Given the description of an element on the screen output the (x, y) to click on. 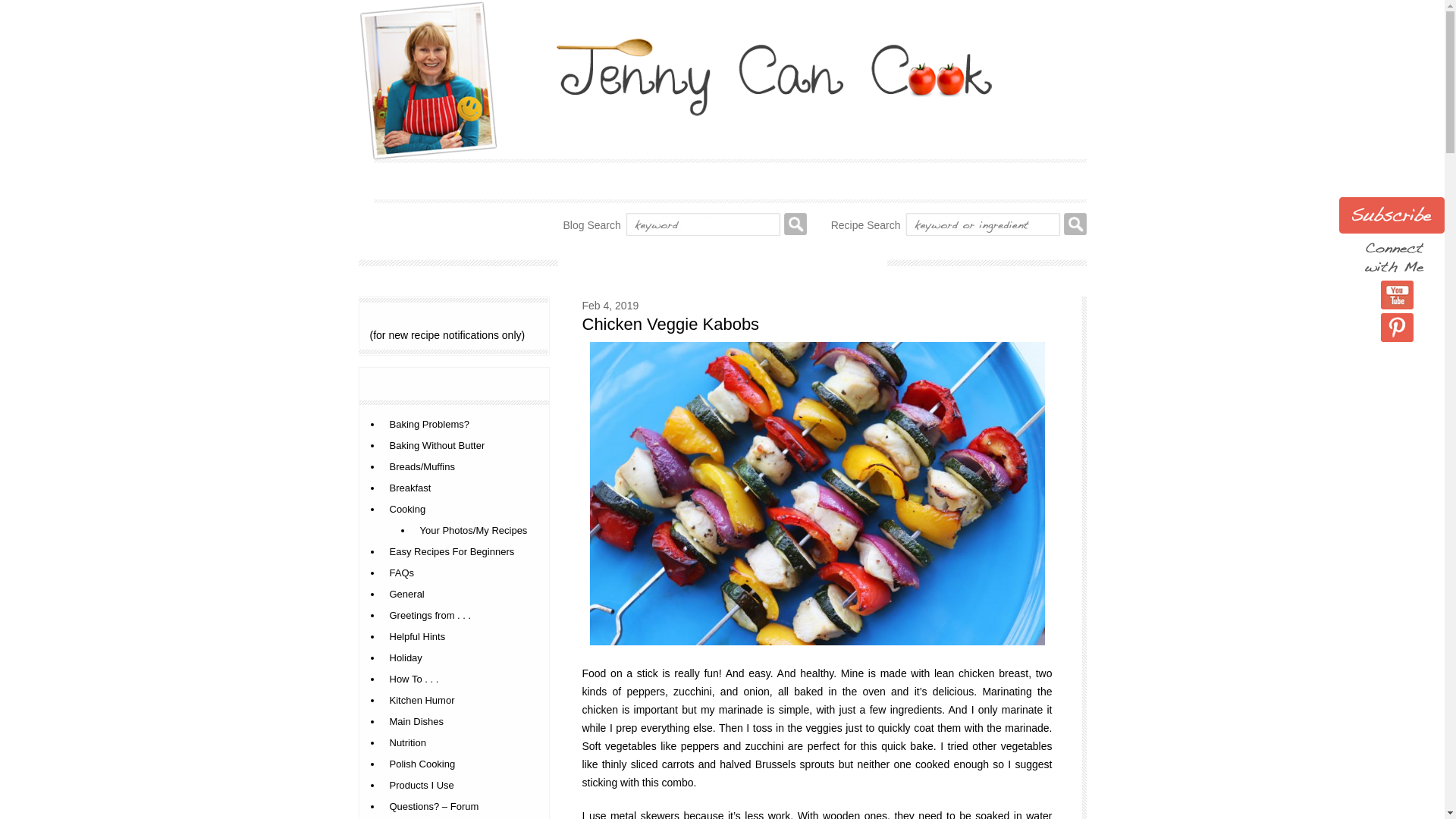
pinterest (1396, 327)
Search (1074, 223)
Search (1074, 223)
Chicken Veggie Kabobs (671, 323)
youtube (1396, 294)
Search (795, 223)
Search (795, 223)
